Given the description of an element on the screen output the (x, y) to click on. 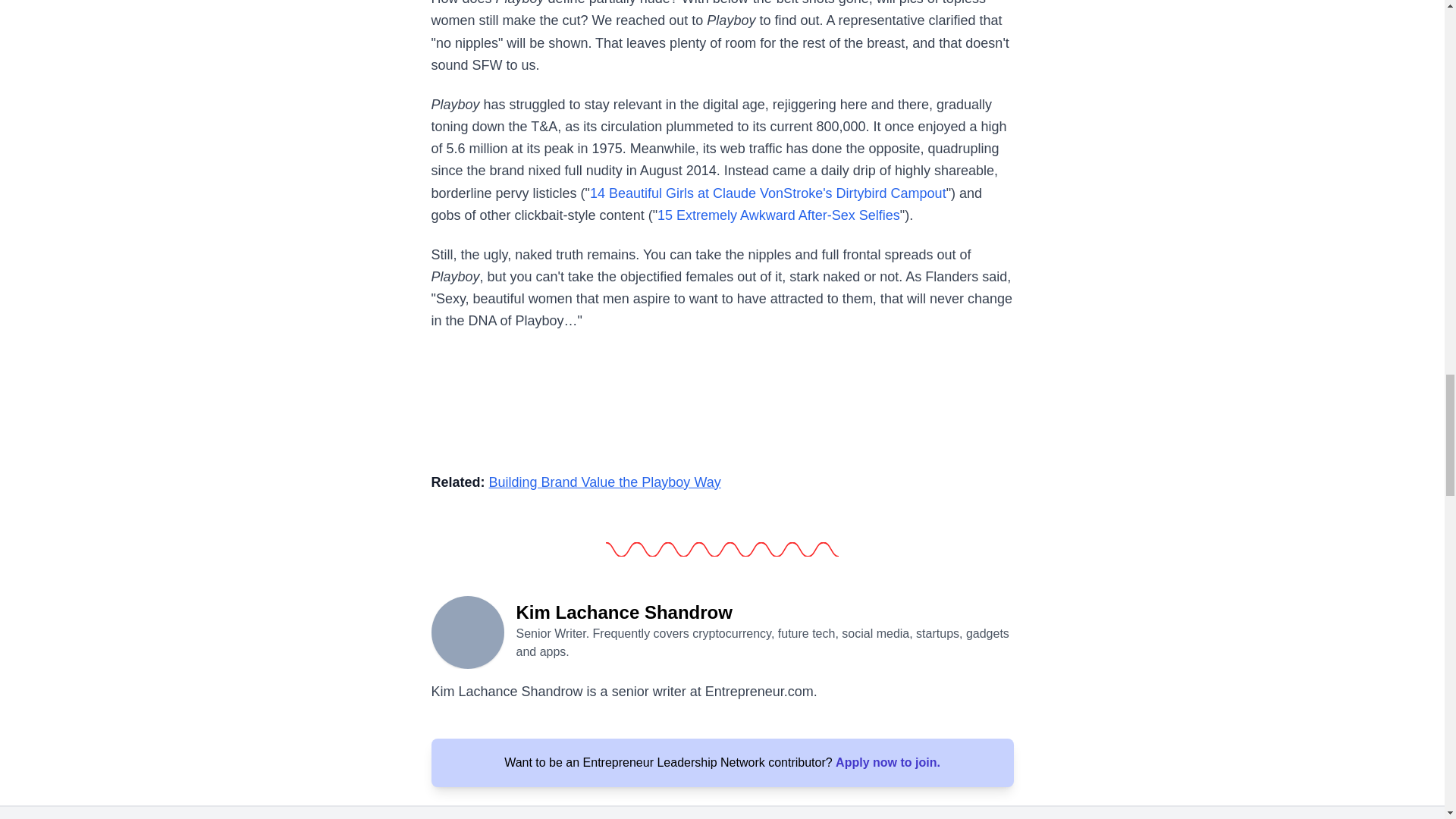
Kim Lachance Shandrow (466, 630)
